Given the description of an element on the screen output the (x, y) to click on. 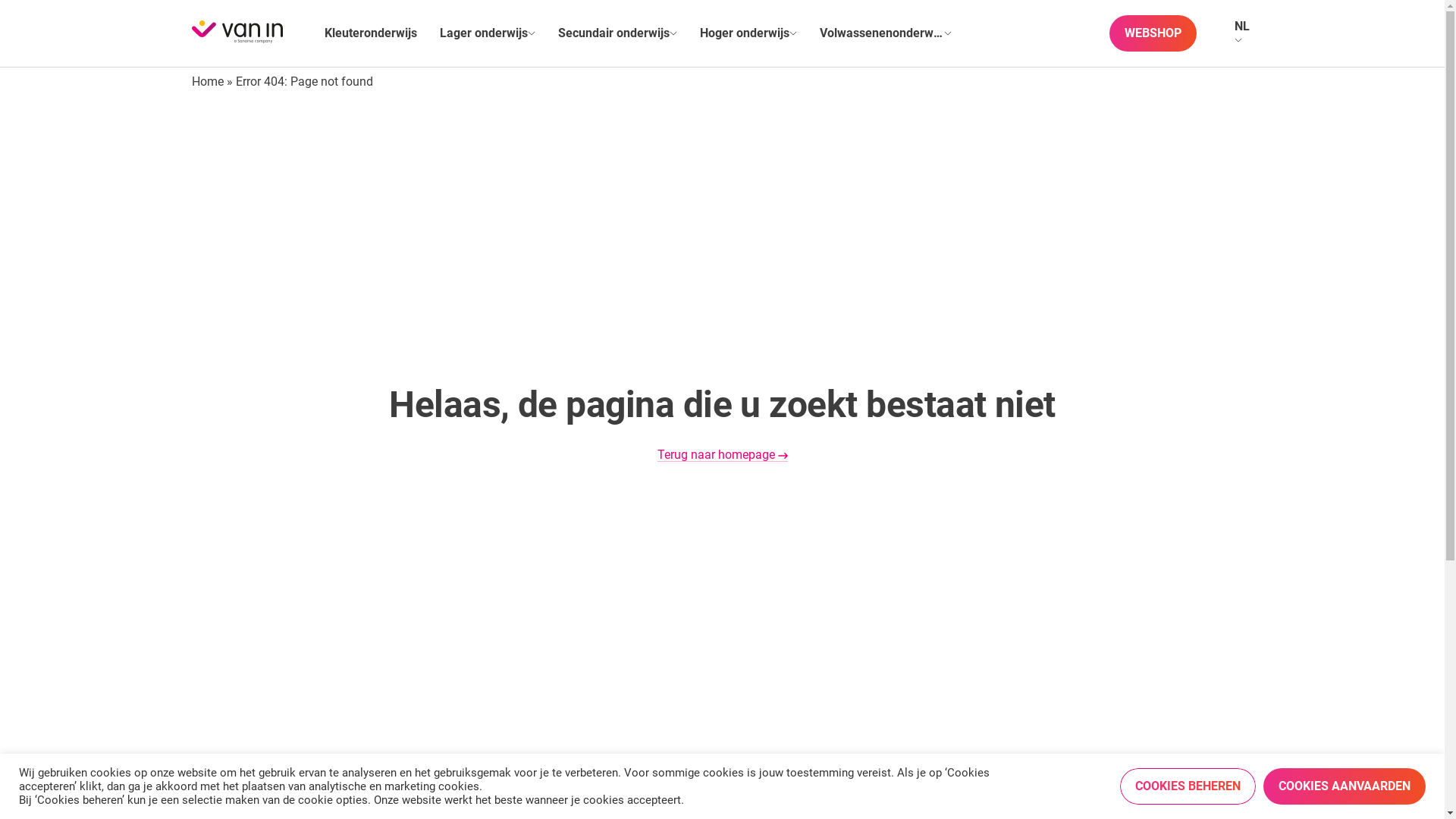
Home Element type: text (206, 81)
Volwassenenonderwijs Element type: text (881, 33)
Secundair onderwijs Element type: text (613, 33)
COOKIES AANVAARDEN Element type: text (1344, 786)
Kleuteronderwijs Element type: text (370, 33)
Terug naar homepage Element type: text (721, 455)
Hoger onderwijs Element type: text (743, 33)
COOKIES BEHEREN Element type: text (1187, 786)
WEBSHOP Element type: text (1152, 33)
NL Element type: text (1241, 25)
Lager onderwijs Element type: text (483, 33)
